Given the description of an element on the screen output the (x, y) to click on. 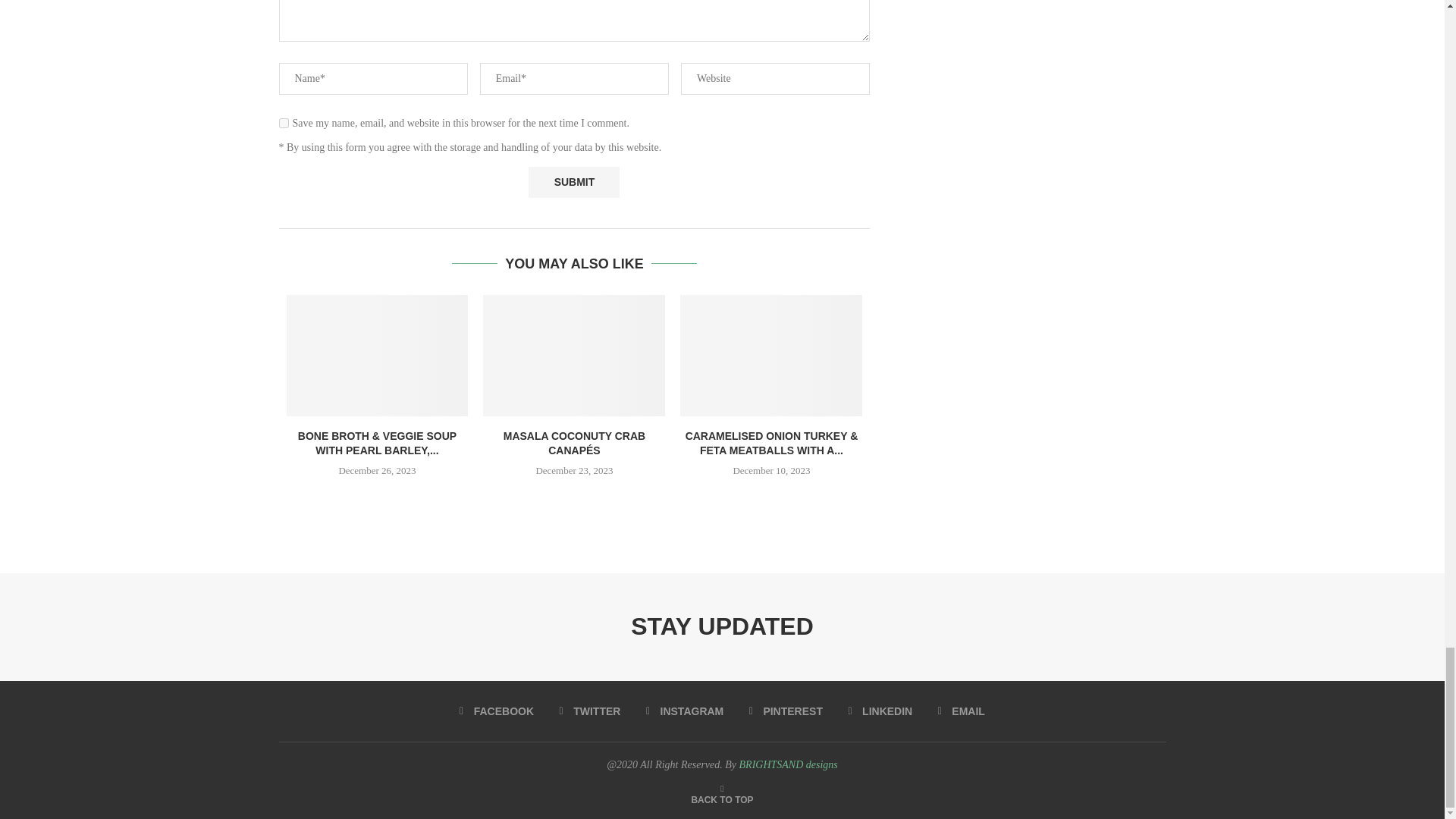
Submit (574, 182)
yes (283, 122)
